Given the description of an element on the screen output the (x, y) to click on. 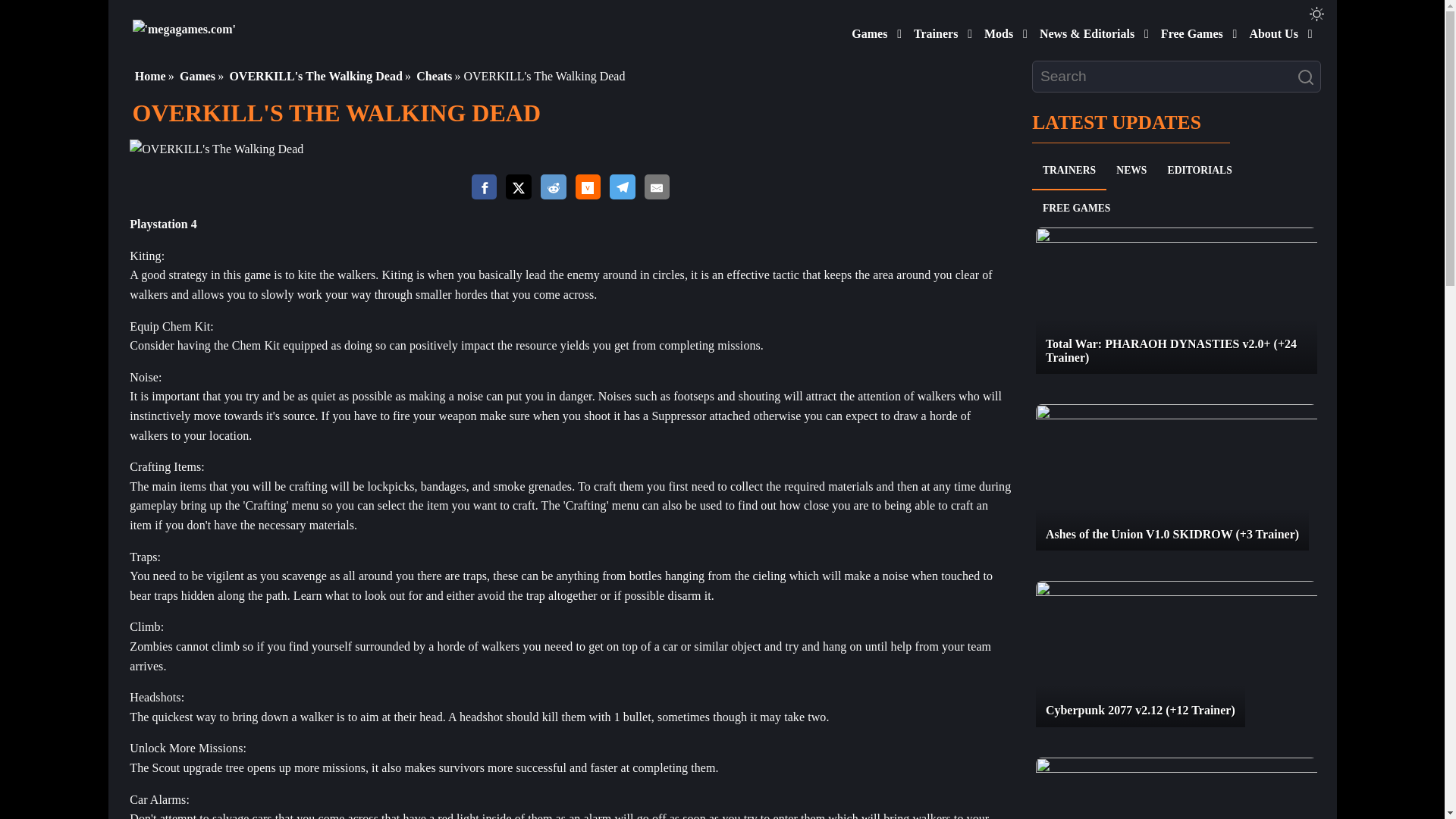
Reddit (553, 186)
Trainers (932, 31)
email (657, 186)
OVERKILL's The Walking Dead (215, 148)
Facebook Share (484, 187)
Telegram (622, 186)
Facebook (484, 186)
X (518, 186)
Hacker News Share (587, 187)
Twitter Share (518, 188)
